Given the description of an element on the screen output the (x, y) to click on. 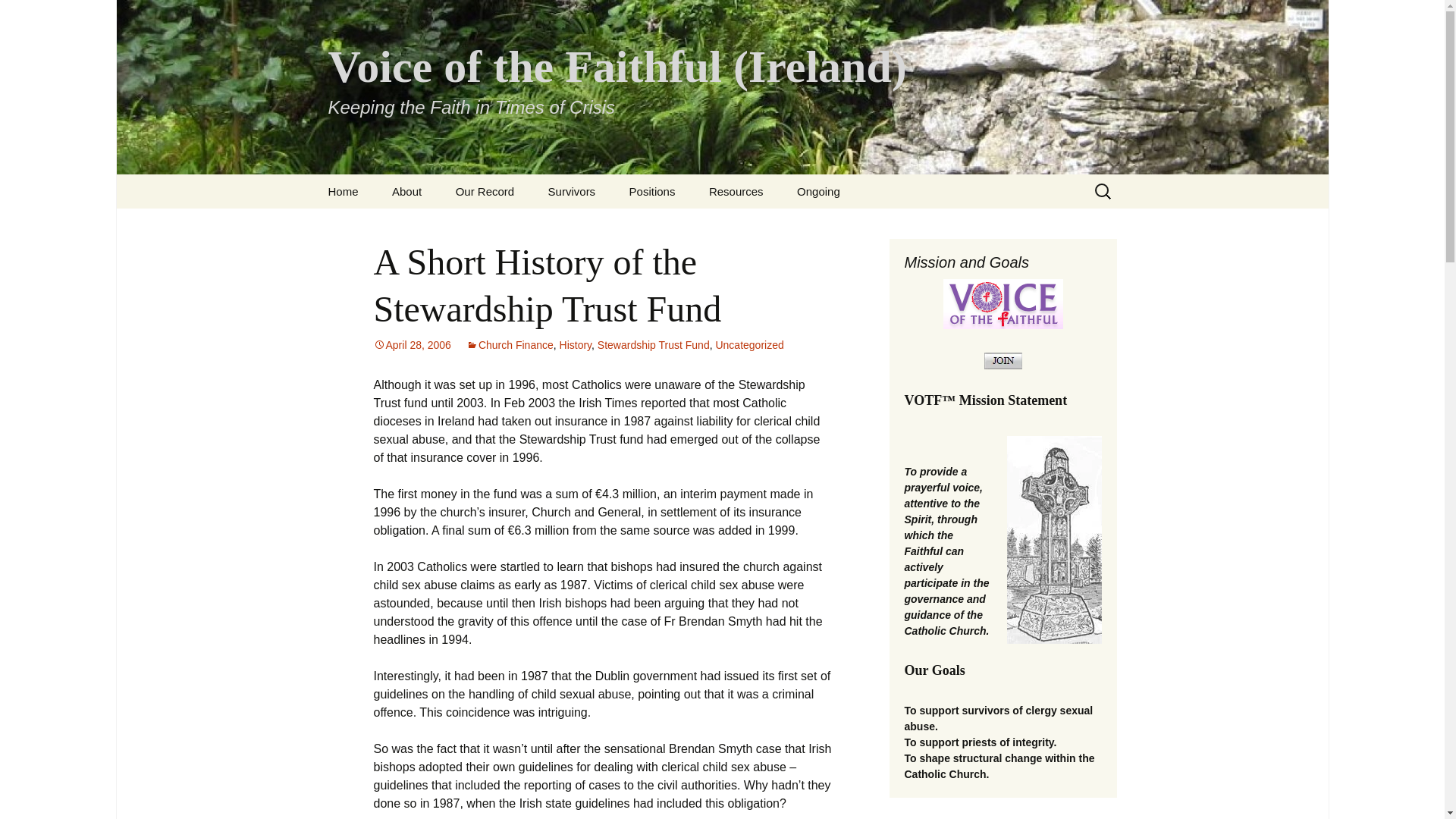
Support (608, 225)
Our Origins (452, 225)
Home (342, 191)
Resources (736, 191)
Our Record (485, 191)
Permalink to A Short History of the Stewardship Trust Fund (410, 345)
Uncategorized (748, 345)
Educating Ourselves (769, 225)
April 28, 2006 (410, 345)
Search (18, 15)
Child Safeguarding (689, 225)
Ongoing (818, 191)
History (575, 345)
Church Finance (509, 345)
